Given the description of an element on the screen output the (x, y) to click on. 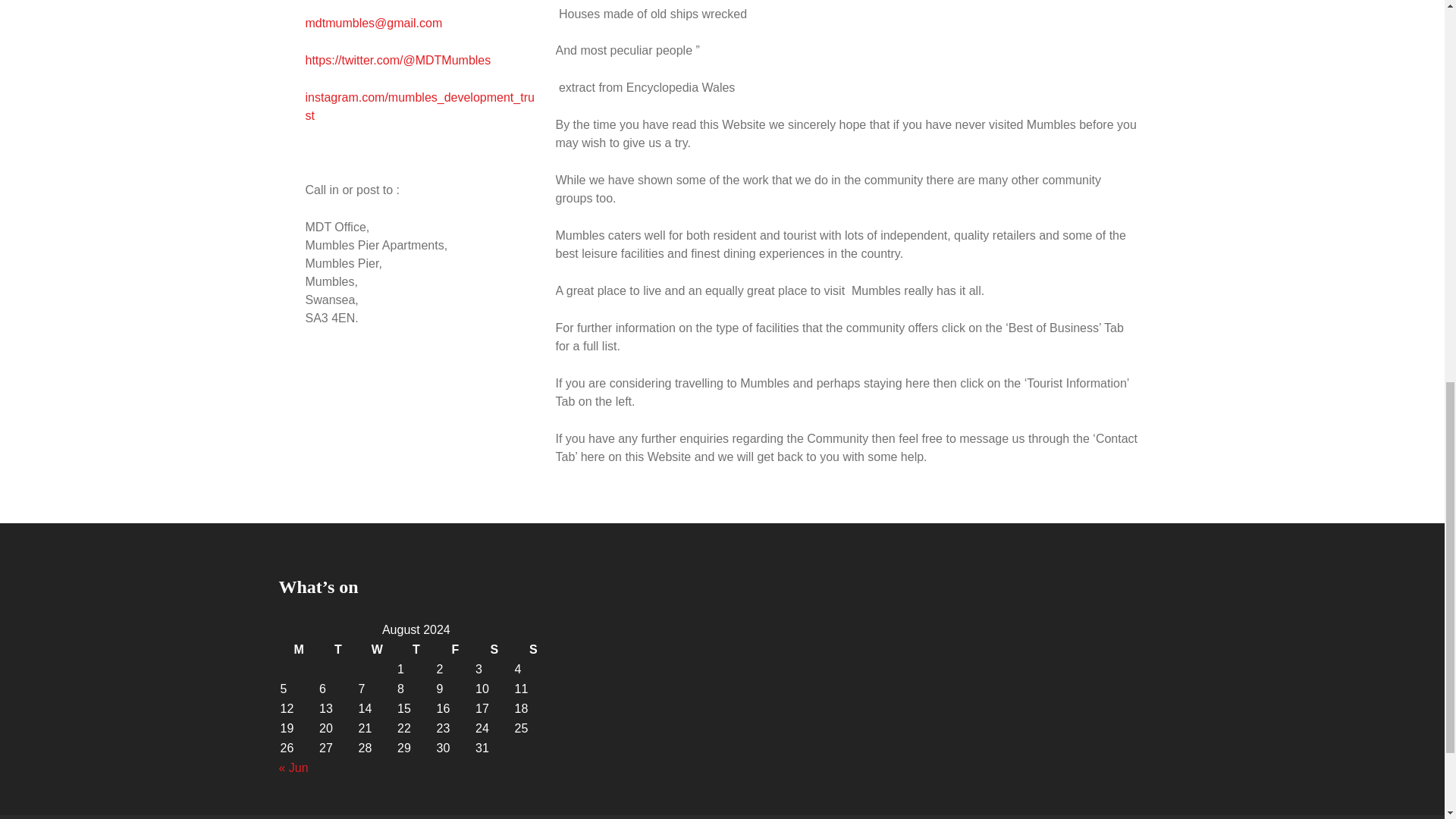
Wednesday (377, 649)
Monday (299, 649)
Thursday (416, 649)
Sunday (534, 649)
Saturday (494, 649)
Tuesday (337, 649)
Friday (455, 649)
